Given the description of an element on the screen output the (x, y) to click on. 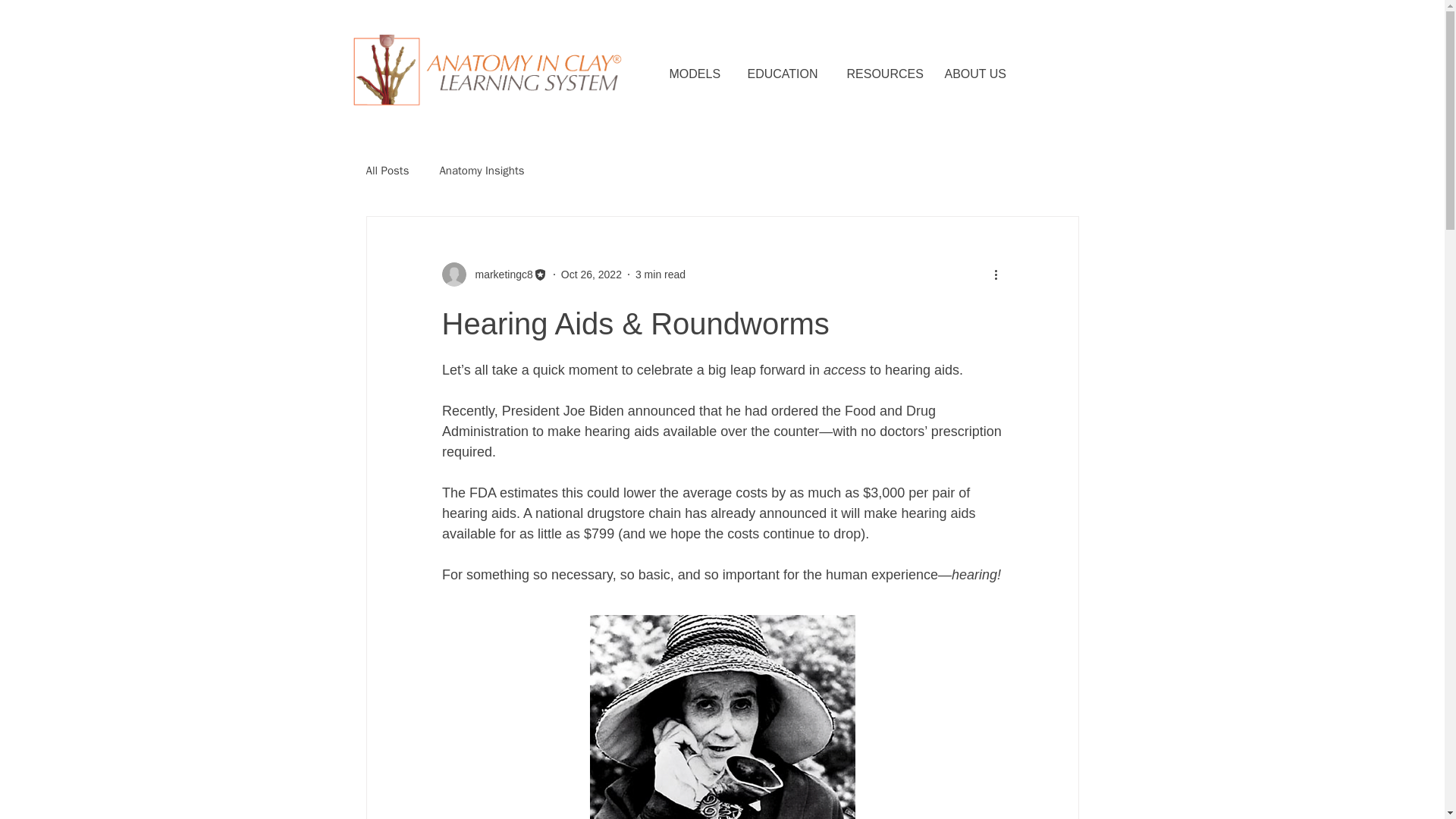
RESOURCES (887, 74)
ABOUT US (981, 74)
All Posts (387, 170)
Anatomy Insights (481, 170)
marketingc8 (498, 274)
Oct 26, 2022 (590, 274)
marketingc8 (494, 274)
EDUCATION (789, 74)
MODELS (700, 74)
3 min read (659, 274)
